Given the description of an element on the screen output the (x, y) to click on. 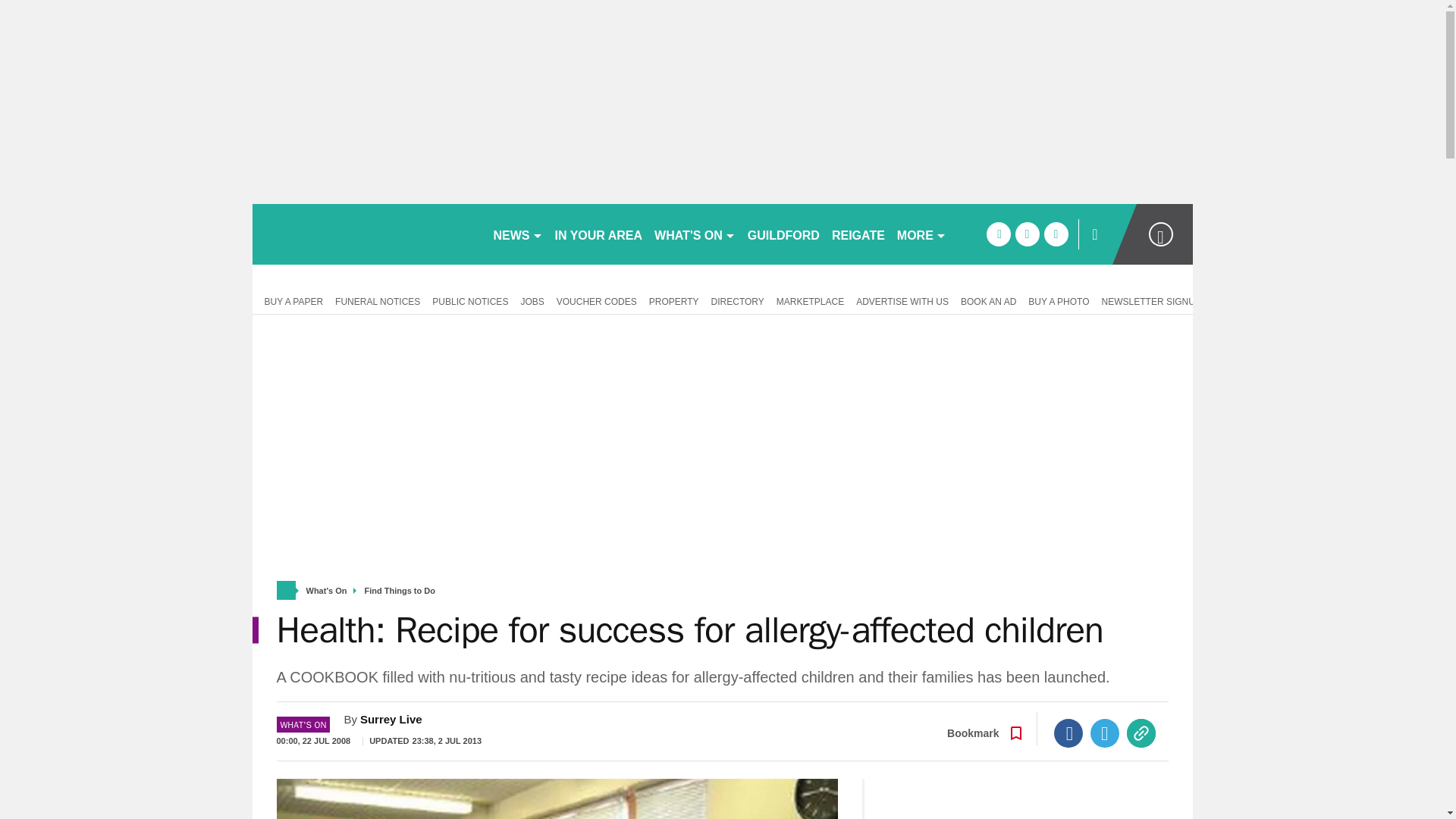
getsurrey (365, 233)
twitter (1026, 233)
Facebook (1068, 733)
NEWS (517, 233)
instagram (1055, 233)
GUILDFORD (783, 233)
BUY A PAPER (290, 300)
VOUCHER CODES (596, 300)
PUBLIC NOTICES (469, 300)
JOBS (531, 300)
